Given the description of an element on the screen output the (x, y) to click on. 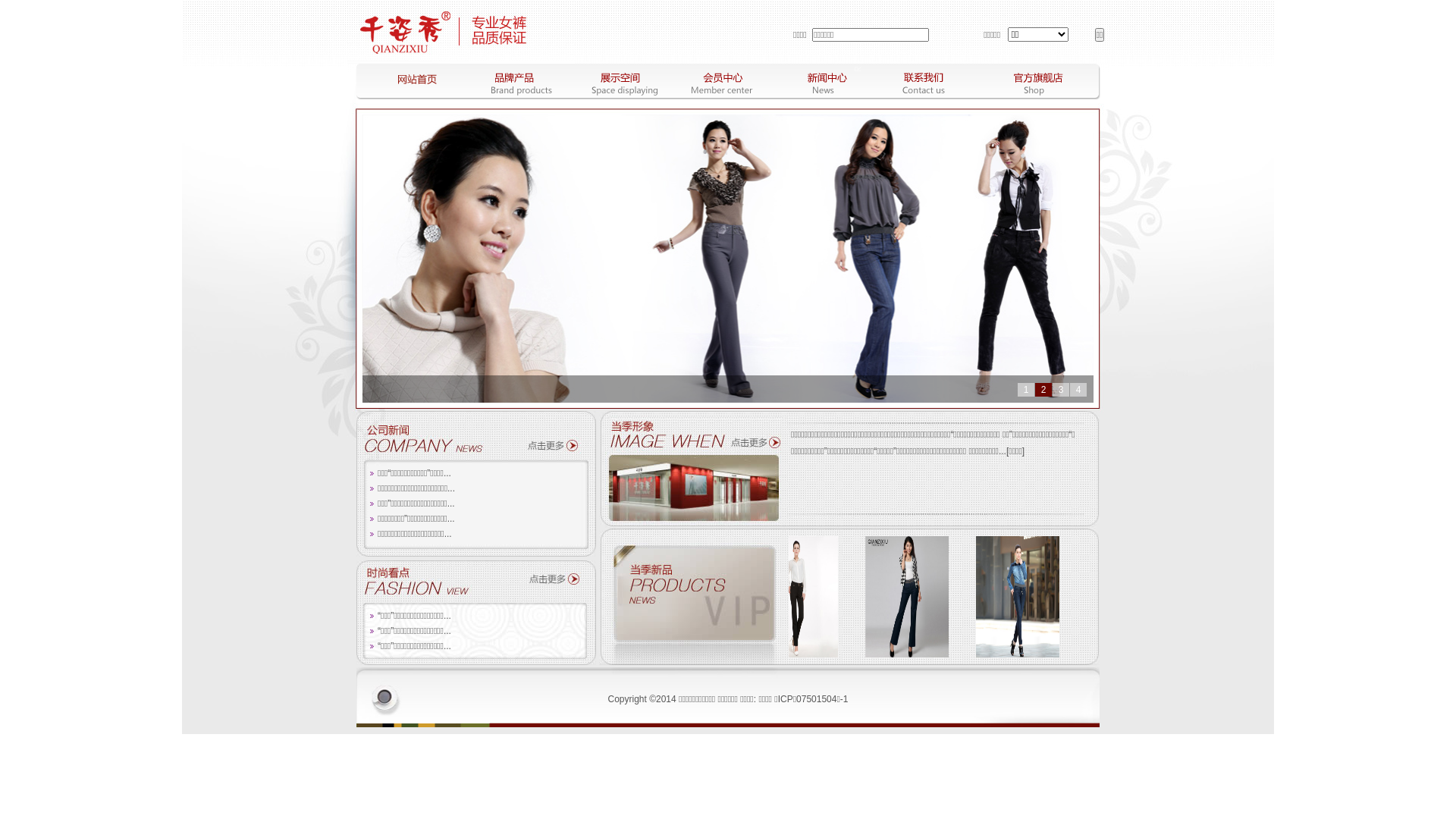
2 Element type: text (1043, 389)
3 Element type: text (1060, 389)
4 Element type: text (1078, 389)
1 Element type: text (1025, 389)
